Given the description of an element on the screen output the (x, y) to click on. 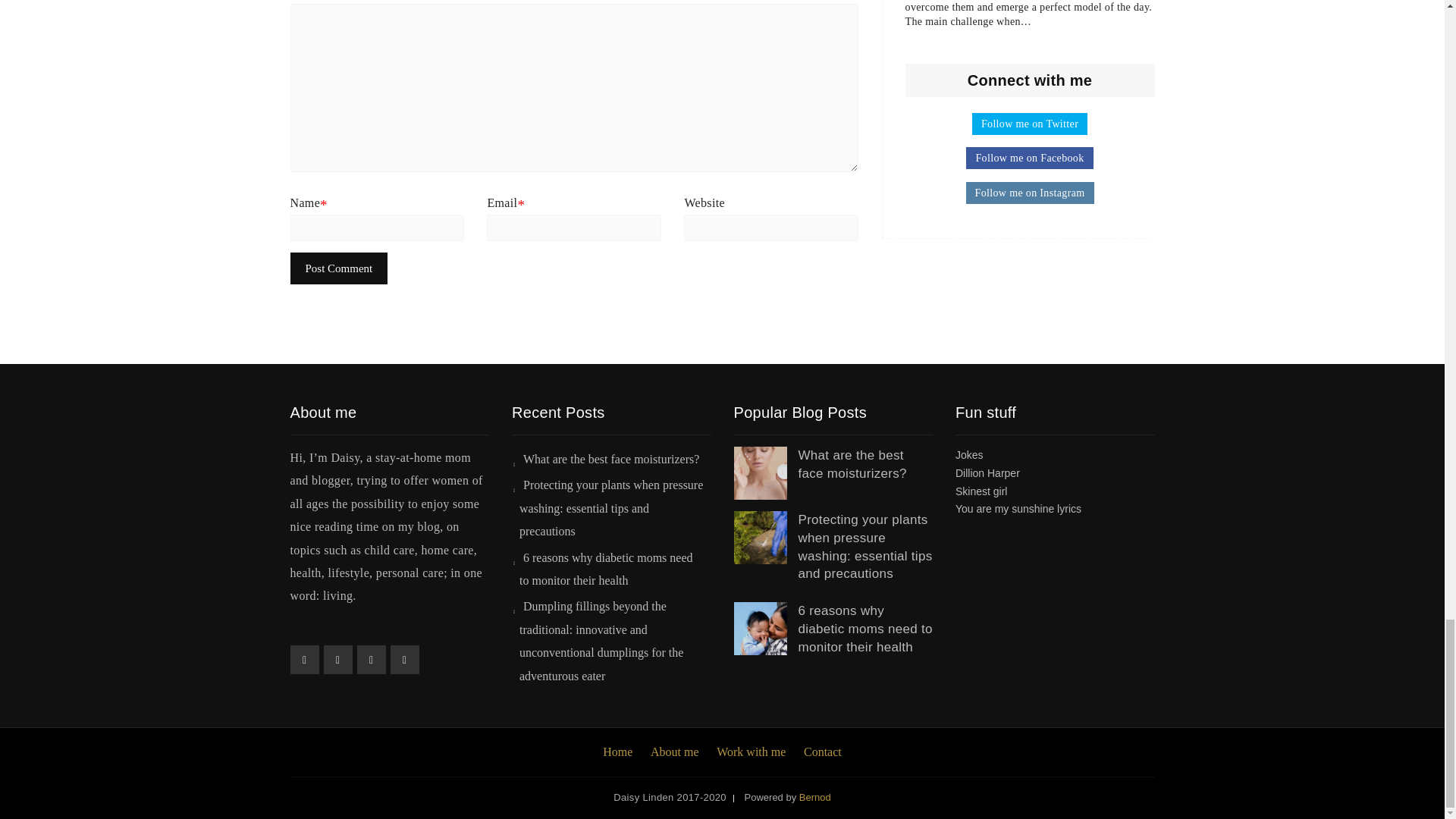
Post Comment (338, 268)
